Given the description of an element on the screen output the (x, y) to click on. 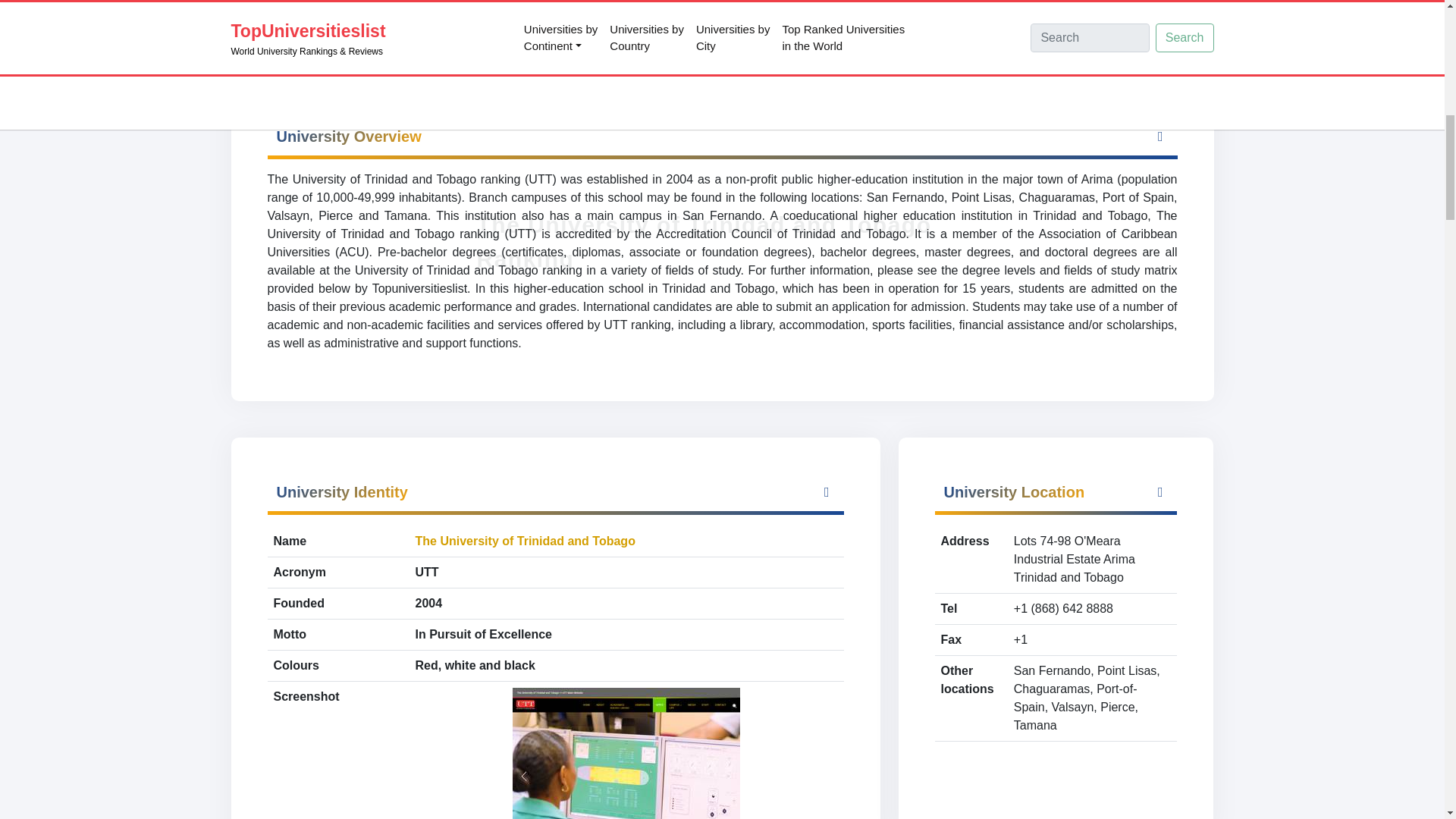
Advertisement (721, 22)
The University of Trinidad and Tobago (524, 540)
